Given the description of an element on the screen output the (x, y) to click on. 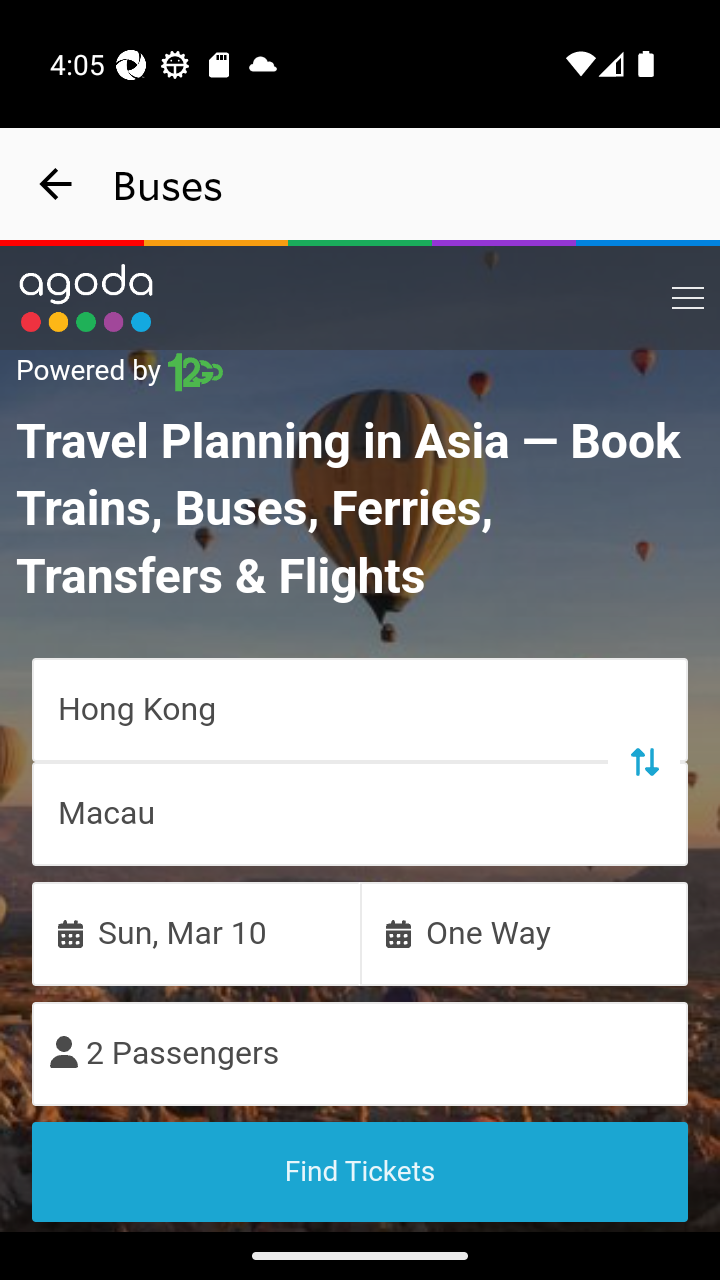
navigation_button (56, 184)
Link to main page 5418 (86, 298)
Hong Kong Swap trip points (359, 708)
Swap trip points (643, 760)
Macau (359, 813)
Sun, Mar 10 (195, 932)
One Way (524, 932)
 2 Passengers (359, 1052)
Find Tickets (359, 1171)
